Given the description of an element on the screen output the (x, y) to click on. 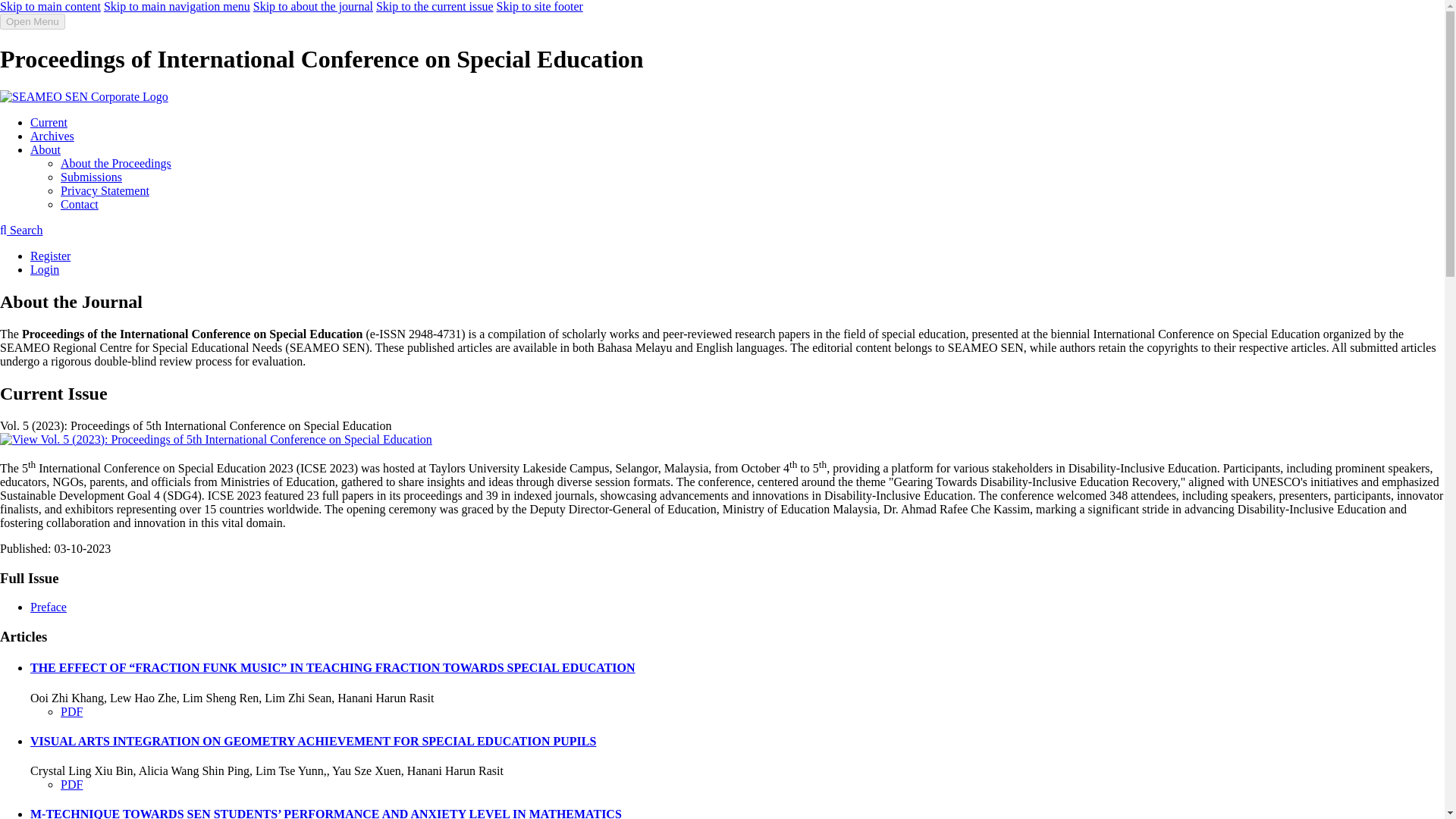
Preface (48, 606)
Login (44, 269)
Skip to site footer (539, 6)
Skip to the current issue (434, 6)
Archives (52, 135)
Search (21, 229)
About the Proceedings (116, 163)
Submissions (91, 176)
PDF (71, 711)
Contact (80, 204)
Skip to main content (50, 6)
Current (48, 122)
PDF (71, 784)
Skip to main navigation menu (176, 6)
Register (49, 255)
